Given the description of an element on the screen output the (x, y) to click on. 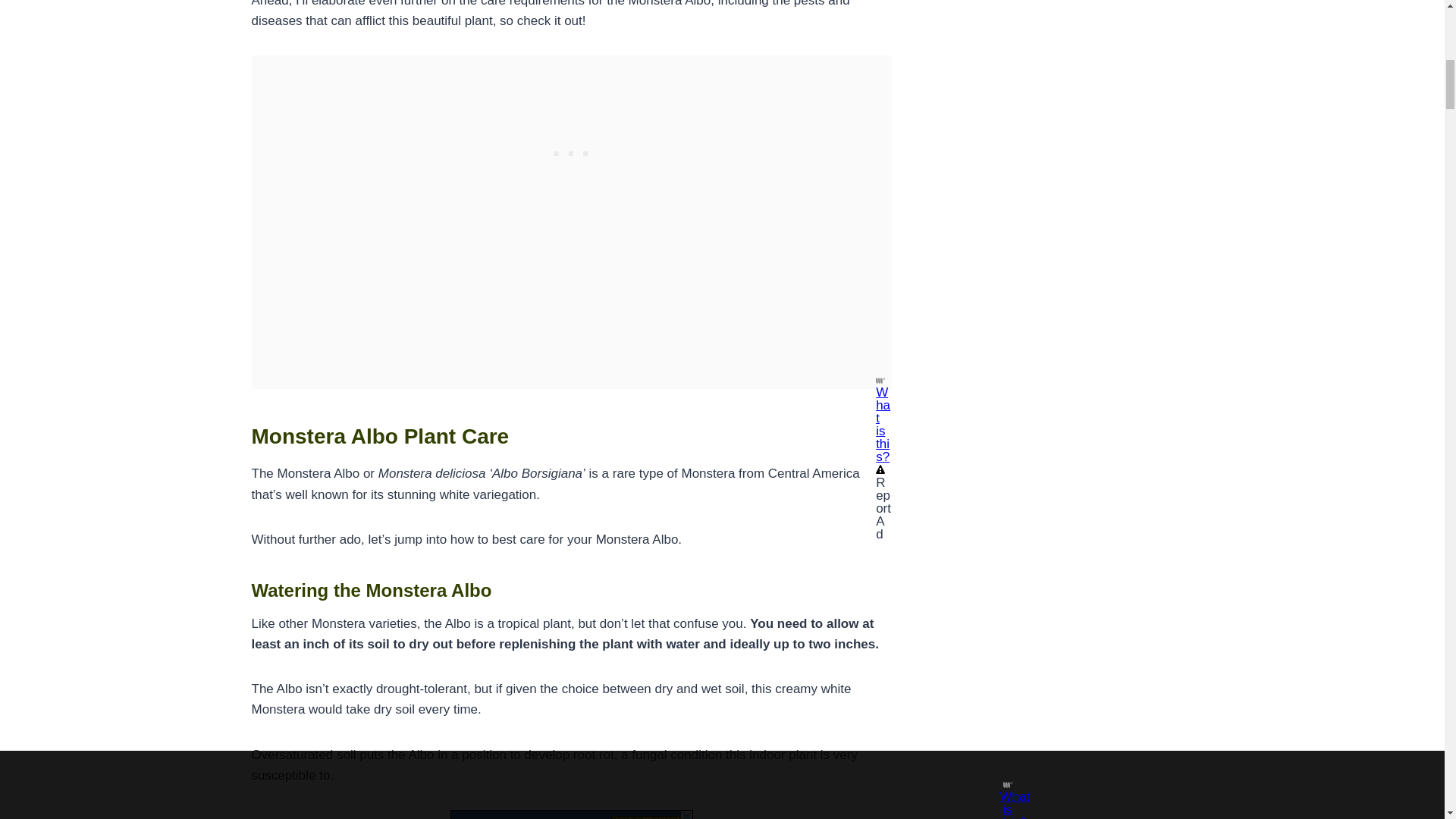
3rd party ad content (571, 814)
3rd party ad content (571, 149)
